Given the description of an element on the screen output the (x, y) to click on. 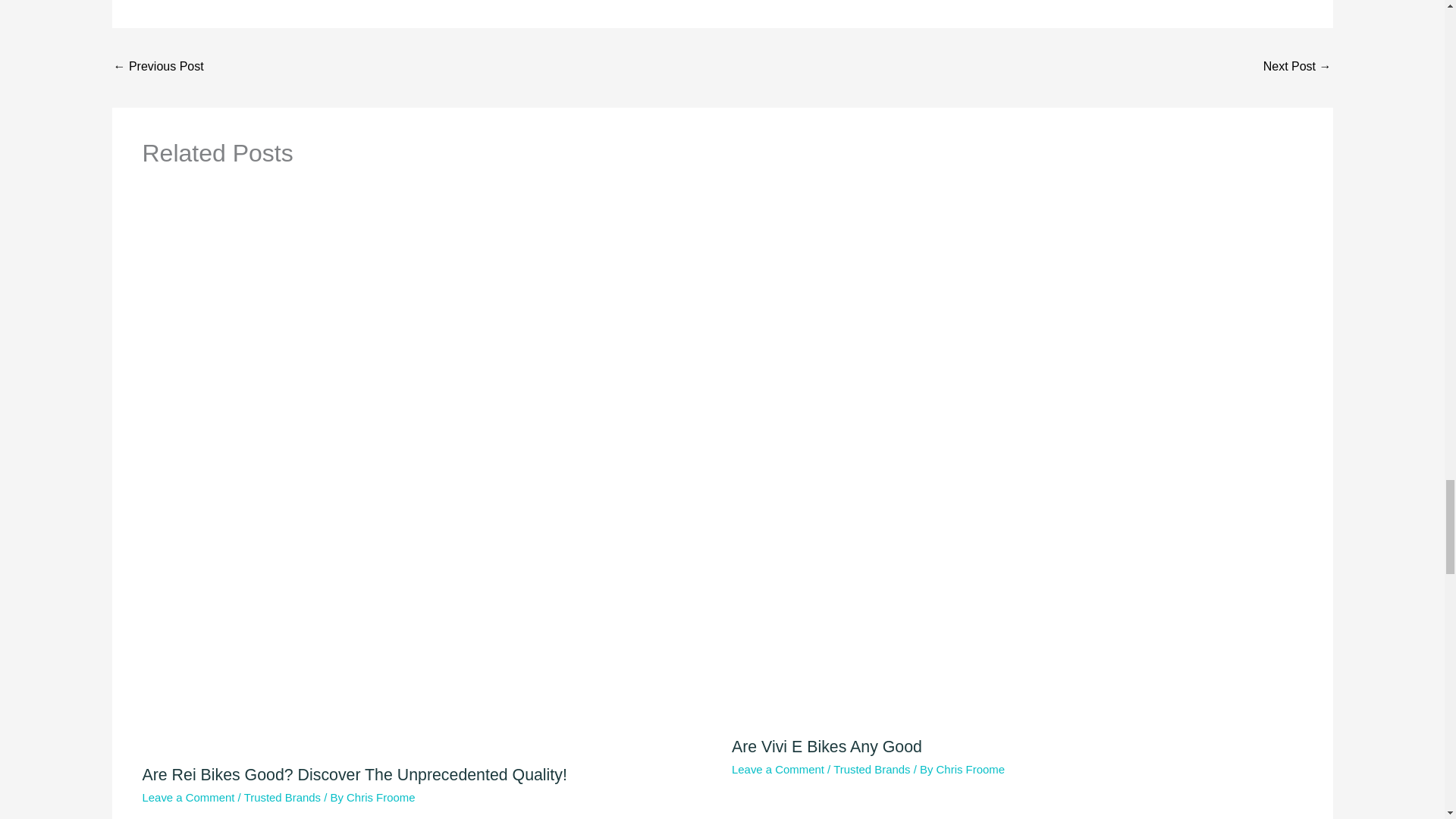
Ancheer 26 Folding Electric Bike (1297, 67)
Chris Froome (380, 797)
Leave a Comment (778, 768)
Chris Froome (970, 768)
Are Vivi E Bikes Any Good (826, 746)
View all posts by Chris Froome (970, 768)
Trusted Brands (282, 797)
Leave a Comment (188, 797)
Trusted Brands (871, 768)
View all posts by Chris Froome (380, 797)
Are Rei Bikes Good? Discover The Unprecedented Quality! (354, 774)
Best Ebike For All Terrain (158, 67)
